Given the description of an element on the screen output the (x, y) to click on. 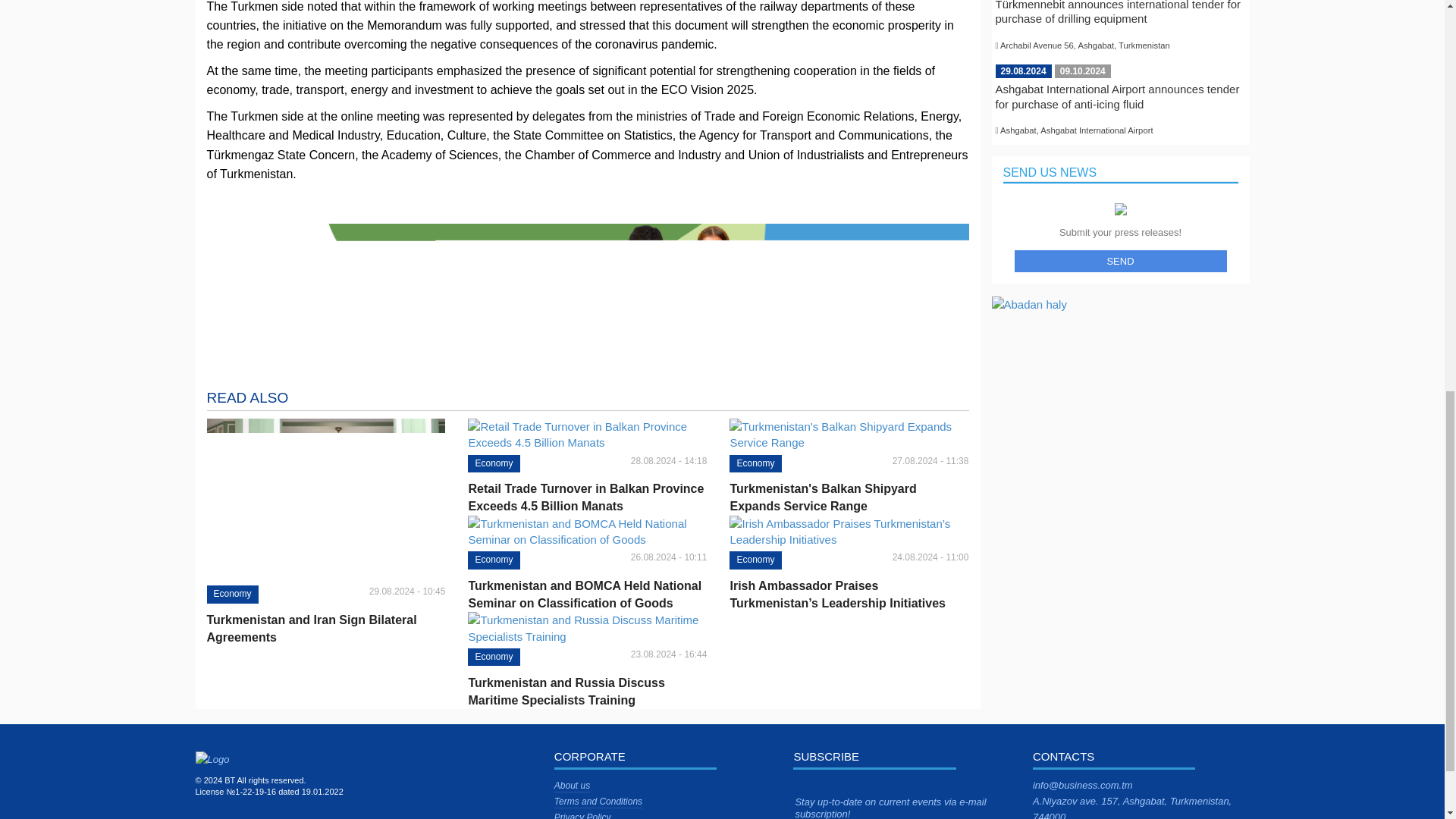
Economy (493, 463)
Economy (754, 559)
Turkmenistan's Balkan Shipyard Expands Service Range (848, 497)
Turkmenistan and Iran Sign Bilateral Agreements (325, 628)
Economy (493, 559)
